Given the description of an element on the screen output the (x, y) to click on. 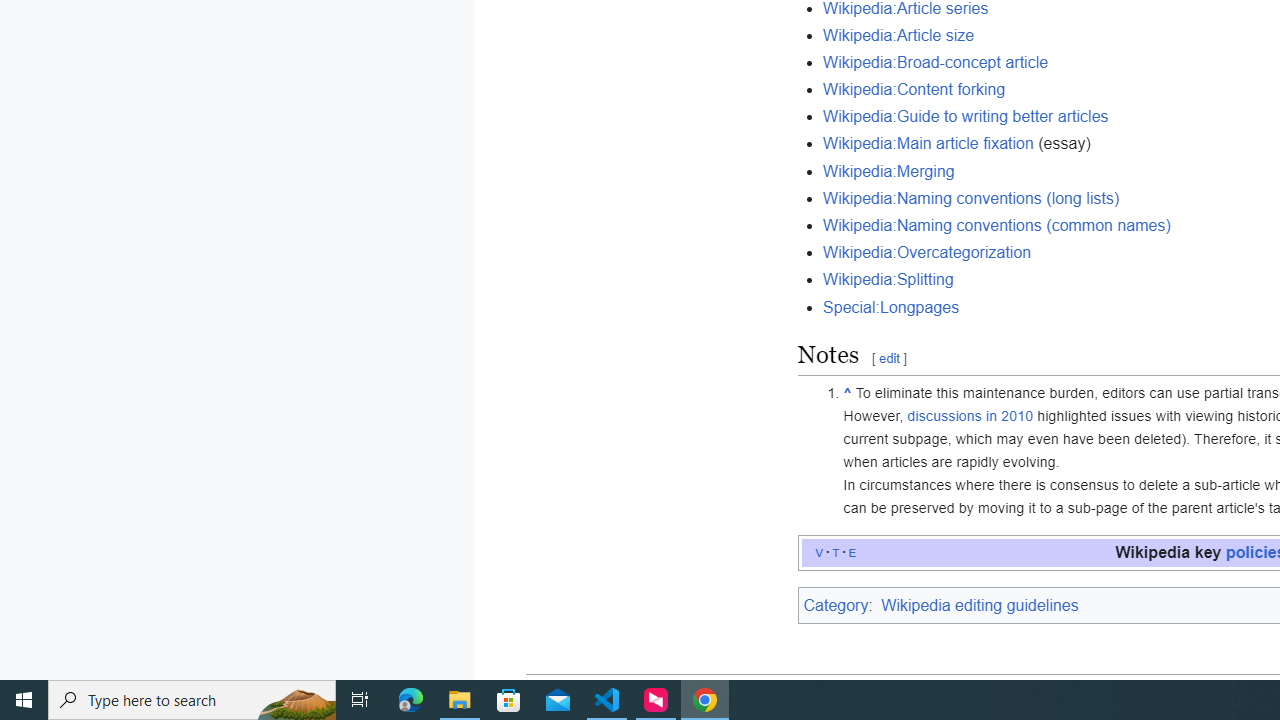
Wikipedia:Naming conventions (common names) (997, 225)
Wikipedia:Naming conventions (long lists) (971, 197)
v (819, 552)
Jump up (847, 393)
discussions in 2010 (970, 416)
